Given the description of an element on the screen output the (x, y) to click on. 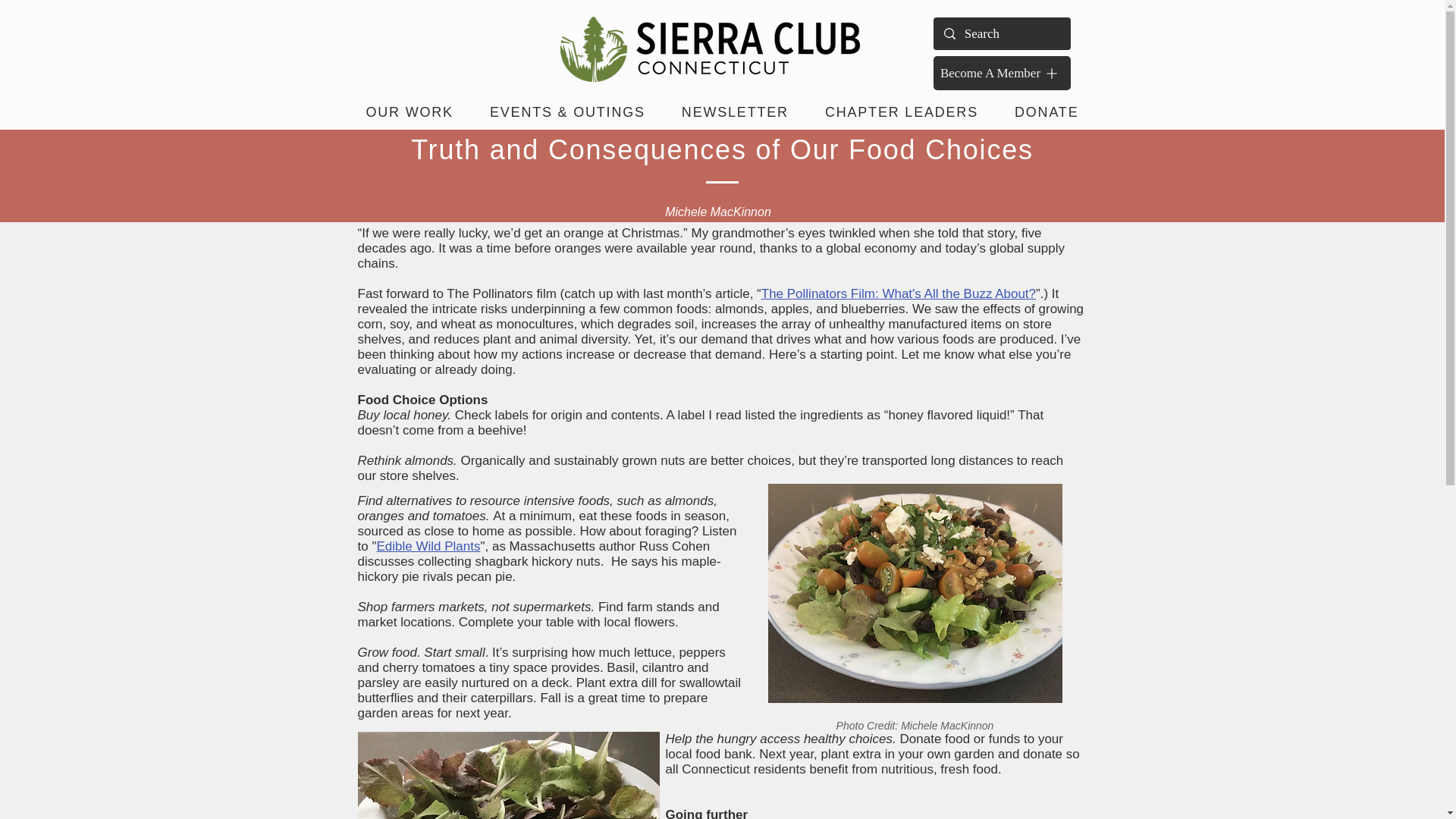
The Pollinators Film: What's All the Buzz About? (898, 293)
farm stands (660, 606)
CHAPTER LEADERS (900, 112)
DONATE (1046, 112)
NEWSLETTER (734, 112)
Listen to "Edible Wild Plants" (547, 538)
OUR WORK (408, 112)
market (377, 622)
Become A Member (1001, 73)
